Given the description of an element on the screen output the (x, y) to click on. 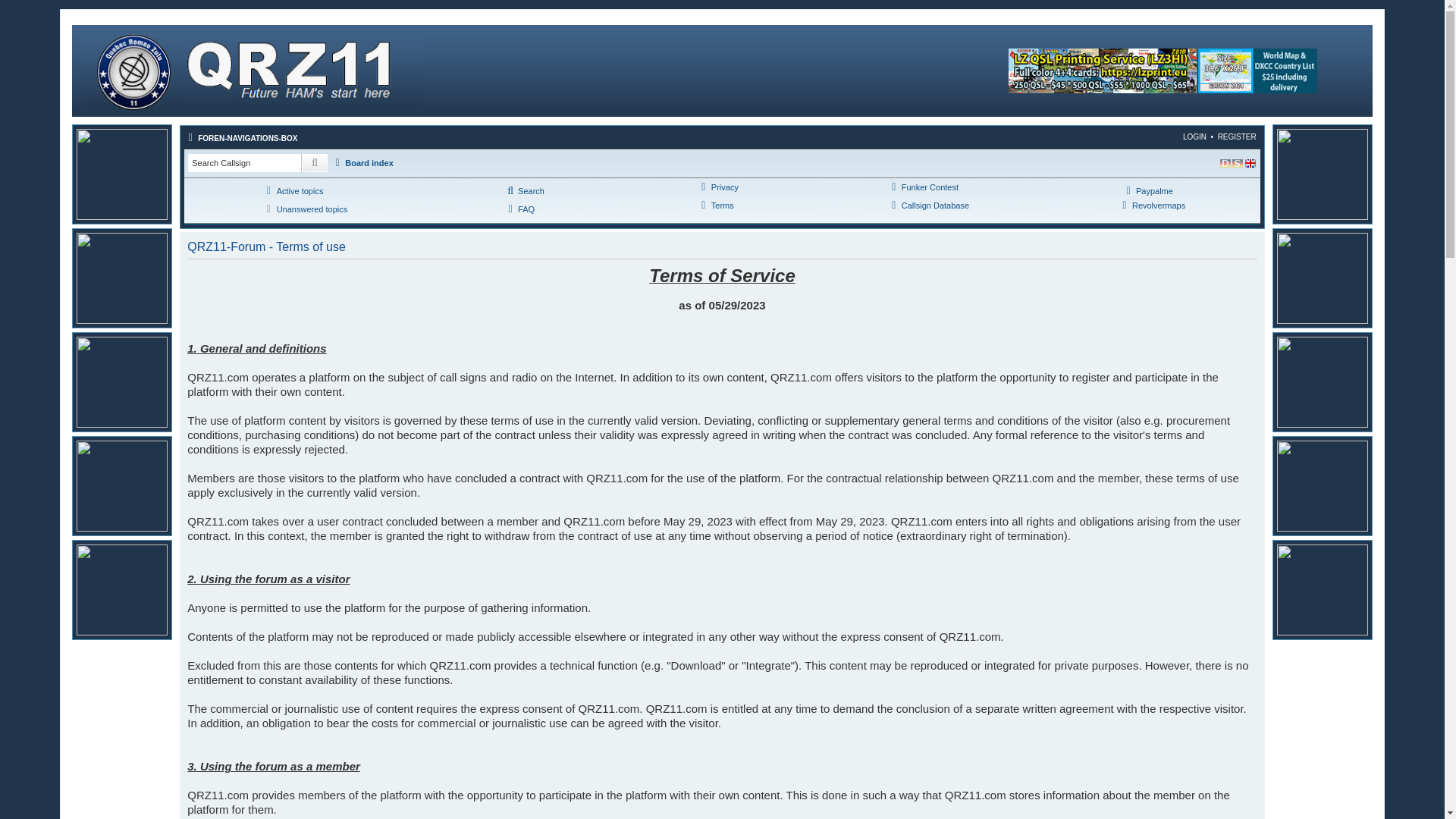
Search (314, 162)
Active topics (293, 190)
de (1226, 163)
Unanswered topics (305, 208)
Board index (251, 71)
REGISTER (1236, 137)
Search (523, 190)
en (1250, 163)
LOGIN (1194, 137)
Callsign search (244, 162)
Board index (362, 162)
